Given the description of an element on the screen output the (x, y) to click on. 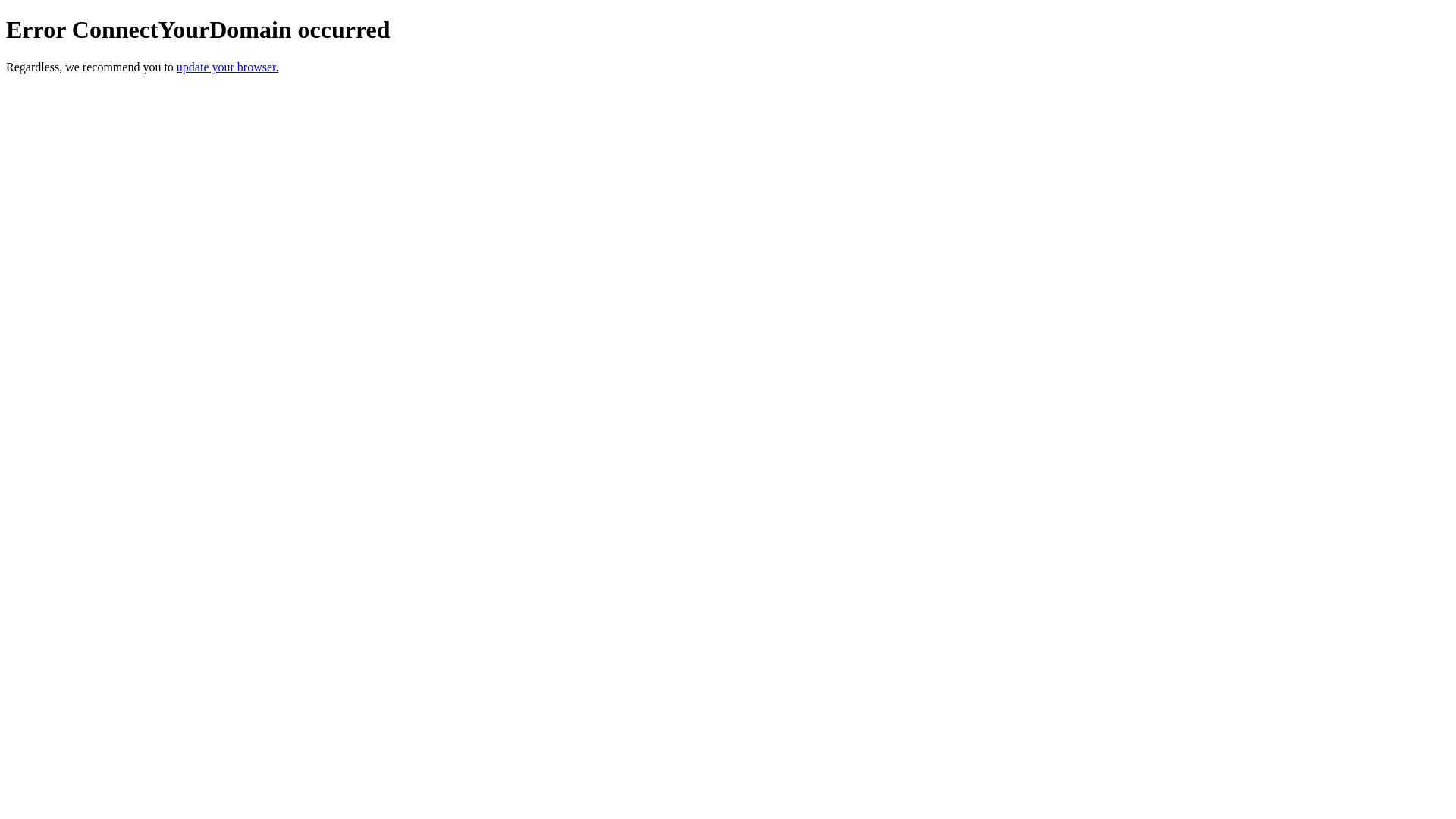
update your browser. Element type: text (227, 66)
